Given the description of an element on the screen output the (x, y) to click on. 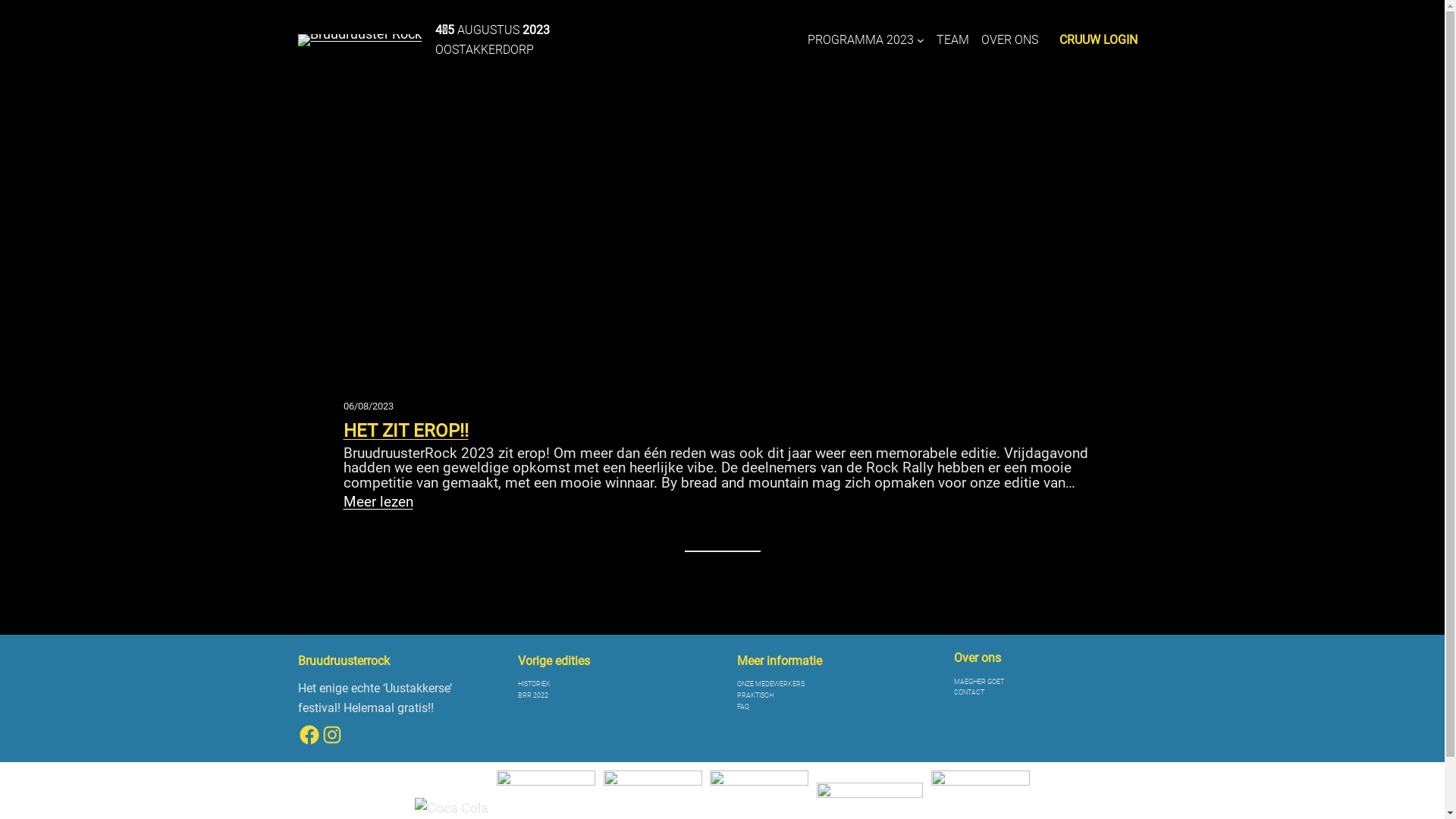
HISTORIEK Element type: text (533, 684)
Meer lezen Element type: text (377, 501)
PRAKTISCH Element type: text (755, 695)
ONZE MEDEWERKERS Element type: text (770, 684)
MAEGHER GOET Element type: text (978, 681)
OVER ONS Element type: text (1009, 40)
PROGRAMMA 2023 Element type: text (860, 40)
Instagram Element type: text (331, 734)
CRUUW LOGIN Element type: text (1098, 40)
BRR 2022 Element type: text (532, 695)
CONTACT Element type: text (968, 692)
Facebook Element type: text (309, 734)
HET ZIT EROP!! Element type: text (404, 430)
TEAM Element type: text (952, 40)
FAQ Element type: text (743, 706)
